Given the description of an element on the screen output the (x, y) to click on. 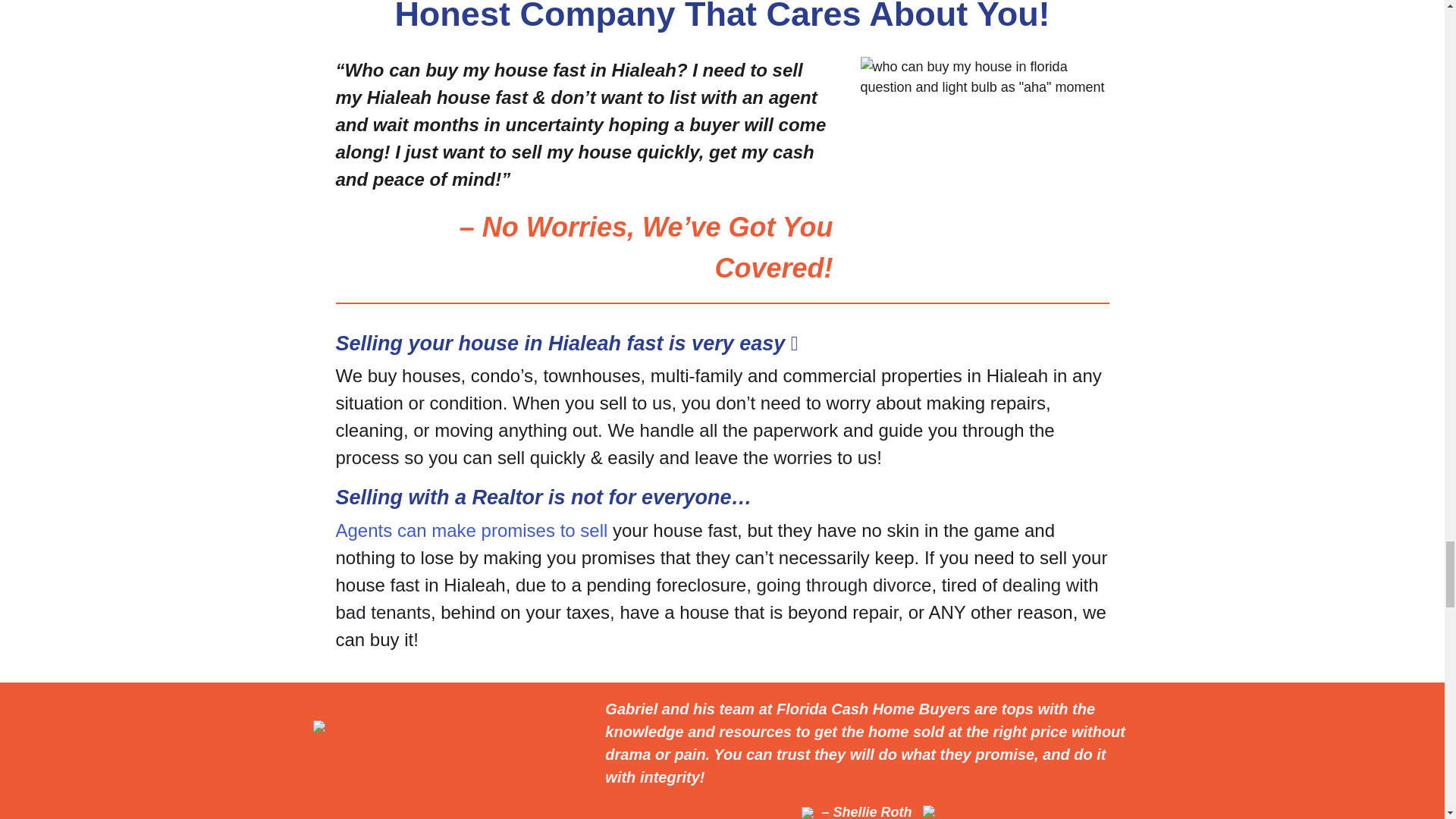
Agents can make promises to sell (470, 530)
